Given the description of an element on the screen output the (x, y) to click on. 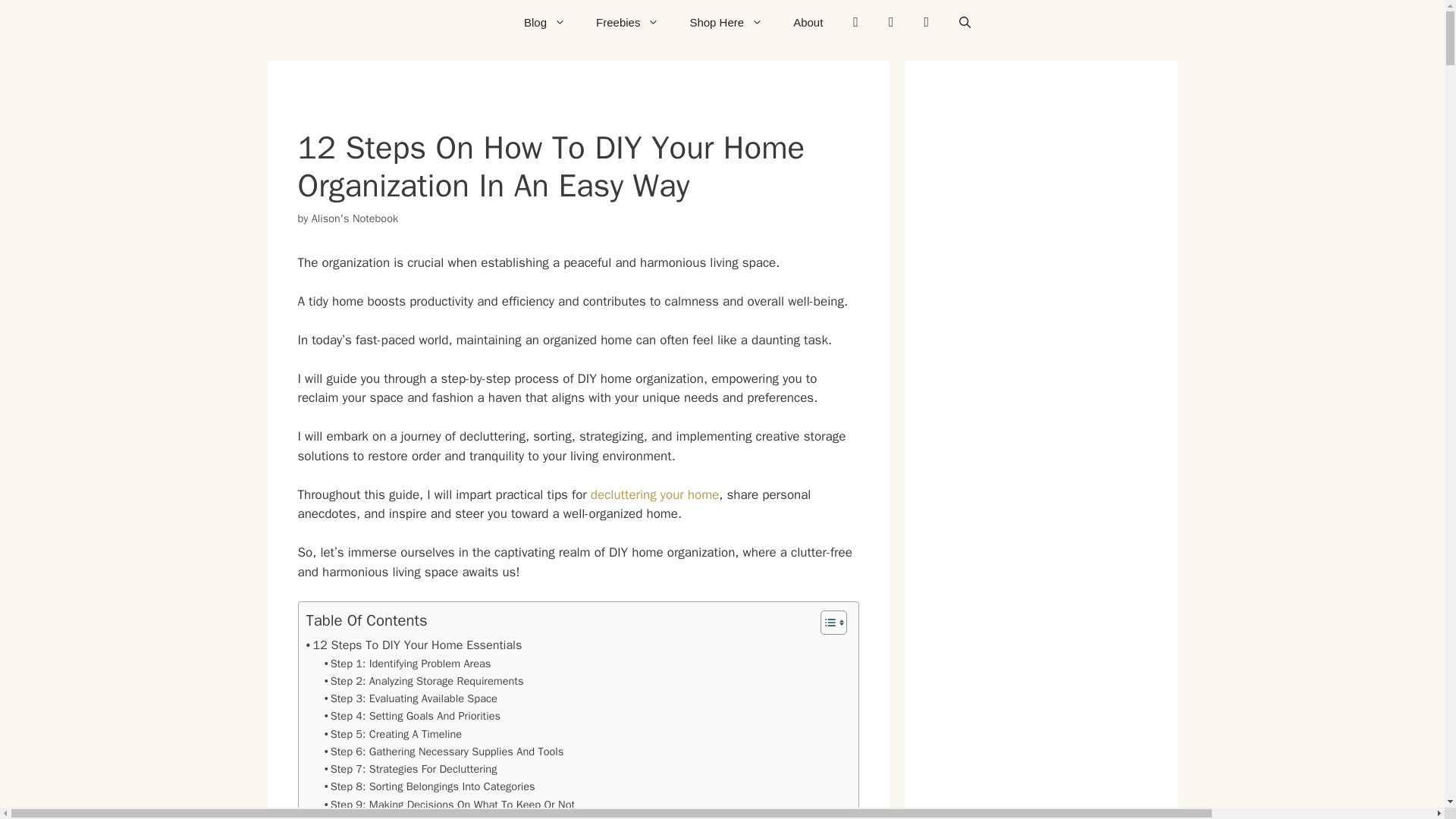
Step 1: Identifying Problem Areas (408, 663)
Step 1: Identifying Problem Areas (408, 663)
decluttering your home (655, 494)
Blog (544, 22)
Step 2: Analyzing Storage Requirements (424, 681)
Step 5: Creating A Timeline (392, 733)
About (807, 22)
Step 2: Analyzing Storage Requirements (424, 681)
Step 3: Evaluating Available Space (410, 698)
12 Steps To DIY Your Home Essentials (413, 645)
Step 6: Gathering Necessary Supplies And Tools (444, 751)
Step 9: Making Decisions On What To Keep Or Not (449, 805)
Step 10: Creative Storage Ideas (404, 816)
Step 8: Sorting Belongings Into Categories (429, 786)
Shop Here (725, 22)
